Given the description of an element on the screen output the (x, y) to click on. 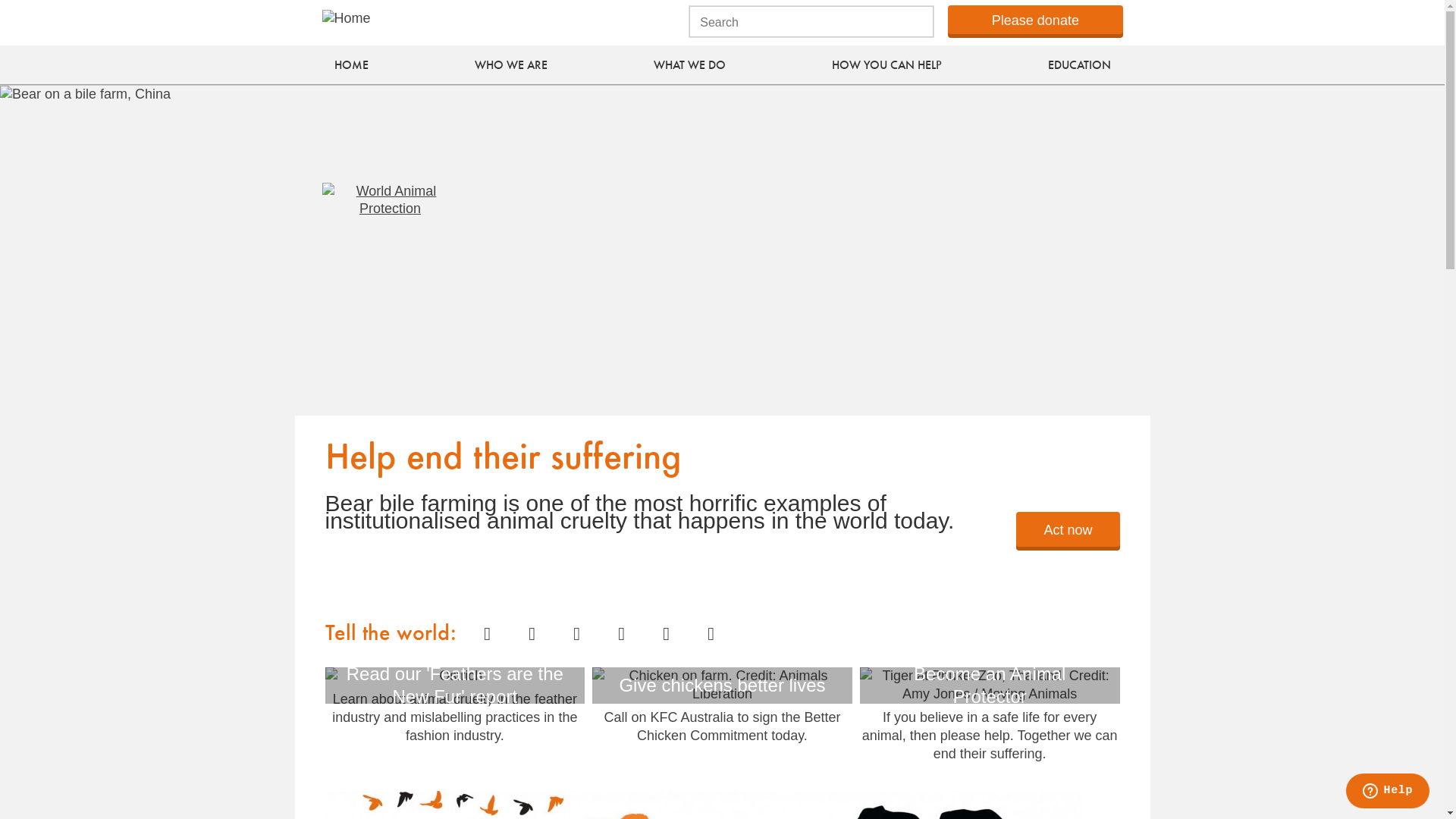
Become an Animal Protector Element type: hover (989, 685)
Give chickens better lives Element type: hover (722, 685)
EDUCATION Element type: text (1078, 65)
Opens a widget where you can find more information Element type: hover (1387, 792)
Skip to main content Element type: text (0, 0)
HOW YOU CAN HELP Element type: text (886, 65)
Search Element type: text (122, 12)
Act now Element type: text (1067, 528)
WHO WE ARE Element type: text (510, 65)
Please donate Element type: text (1034, 19)
Read our 'Feathers are the New Fur' report Element type: hover (454, 676)
HOME Element type: text (351, 65)
WHAT WE DO Element type: text (688, 65)
Home Element type: hover (389, 250)
